Given the description of an element on the screen output the (x, y) to click on. 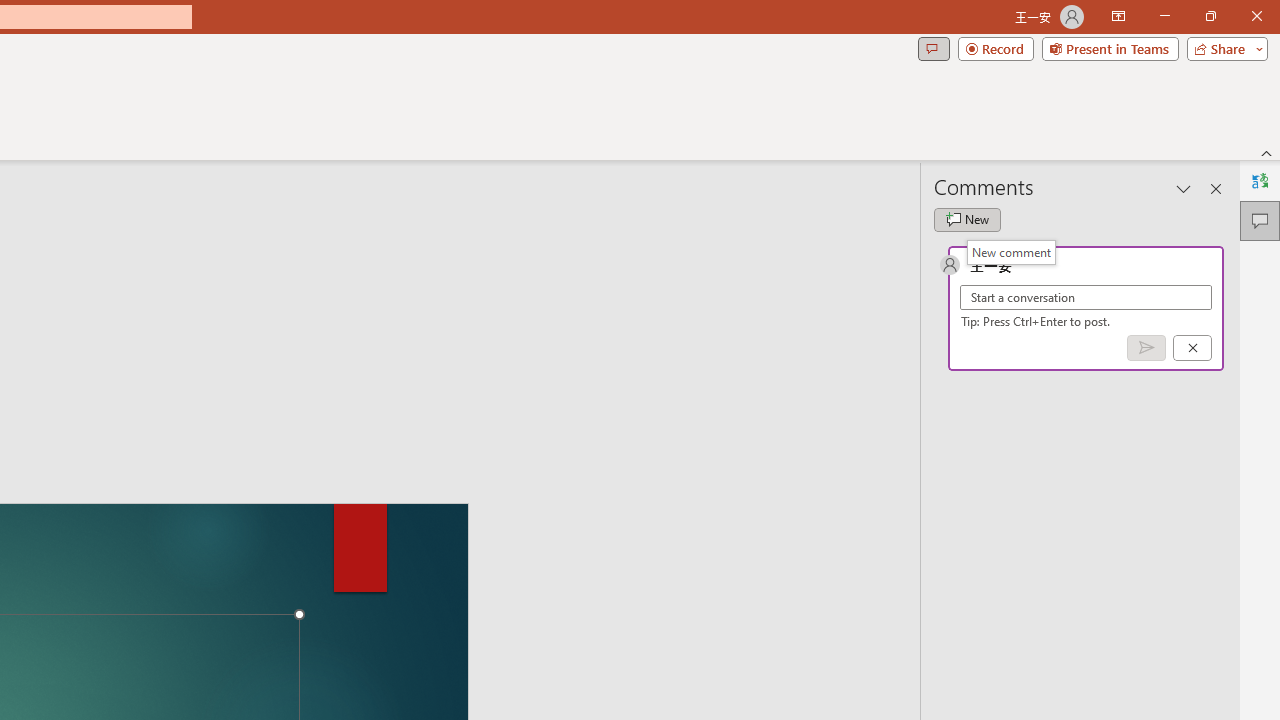
Post comment (Ctrl + Enter) (1146, 347)
Start a conversation (1085, 297)
New comment (967, 219)
